Given the description of an element on the screen output the (x, y) to click on. 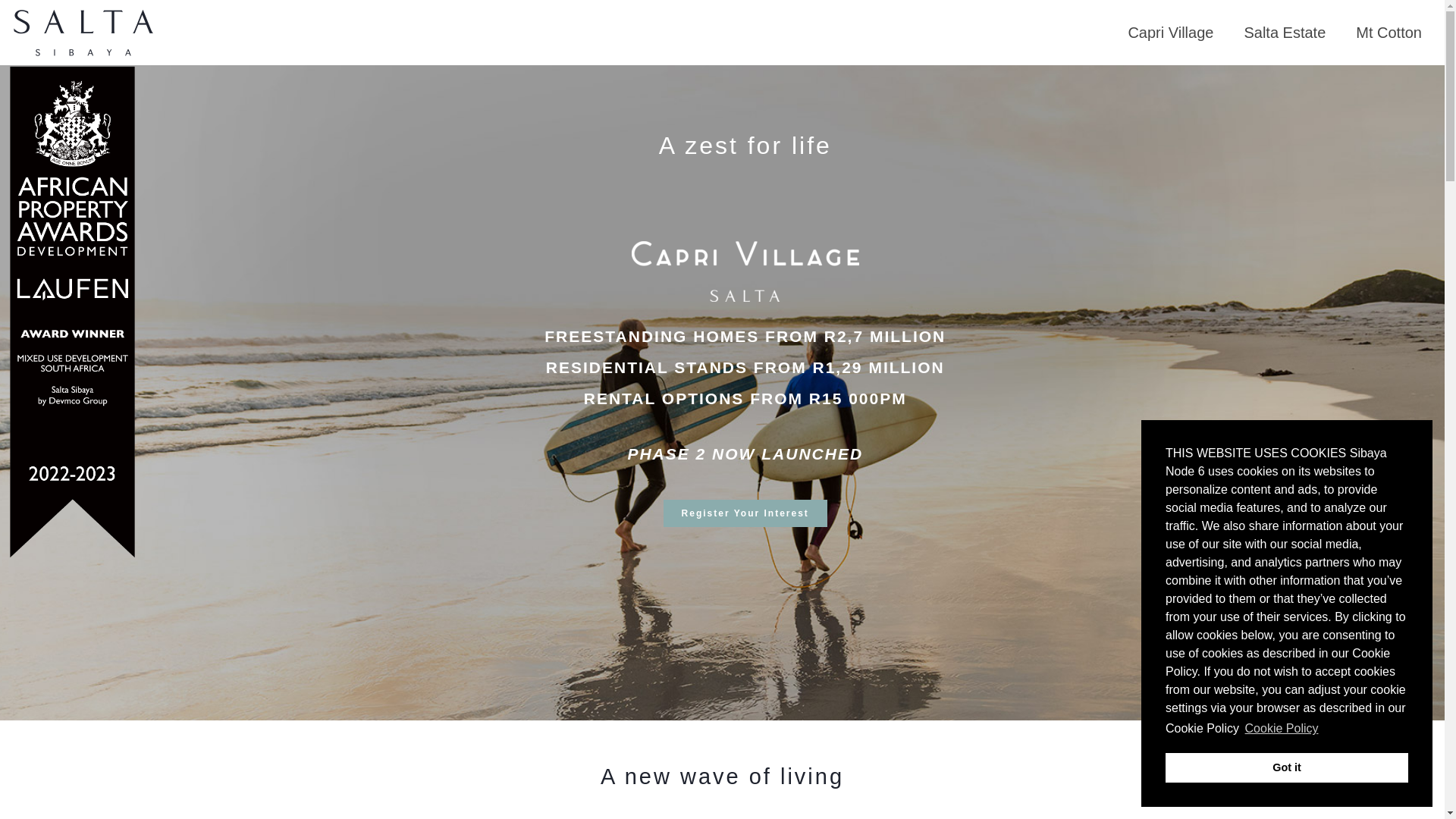
Got it (1286, 767)
Mt Cotton (1388, 32)
Register Your Interest (745, 492)
Capri Village (1170, 32)
Salta Estate (1284, 32)
Cookie Policy (1280, 728)
